Given the description of an element on the screen output the (x, y) to click on. 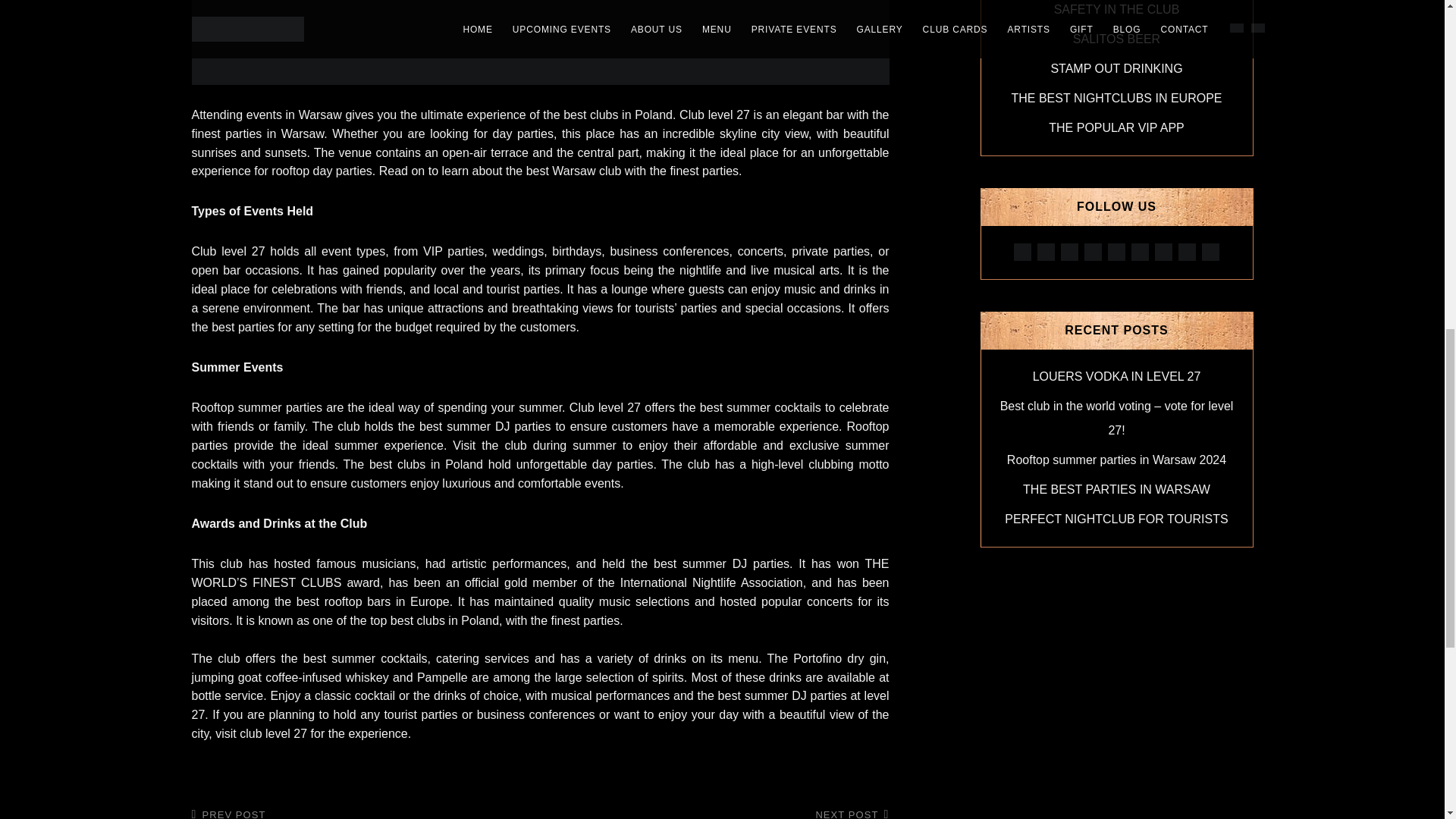
THE BEST NIGHTCLUBS IN EUROPE (1117, 97)
WhatsApp (1186, 250)
YouTube (1093, 250)
Facebook (357, 813)
YouTube (1021, 252)
STAMP OUT DRINKING (1093, 252)
Facebook (1115, 68)
Google (1021, 250)
Google (1116, 252)
Pinterest (1116, 250)
Trip Advisor (1139, 252)
WhatsApp (1045, 250)
TikTok (1186, 252)
Instagram (1210, 250)
